Given the description of an element on the screen output the (x, y) to click on. 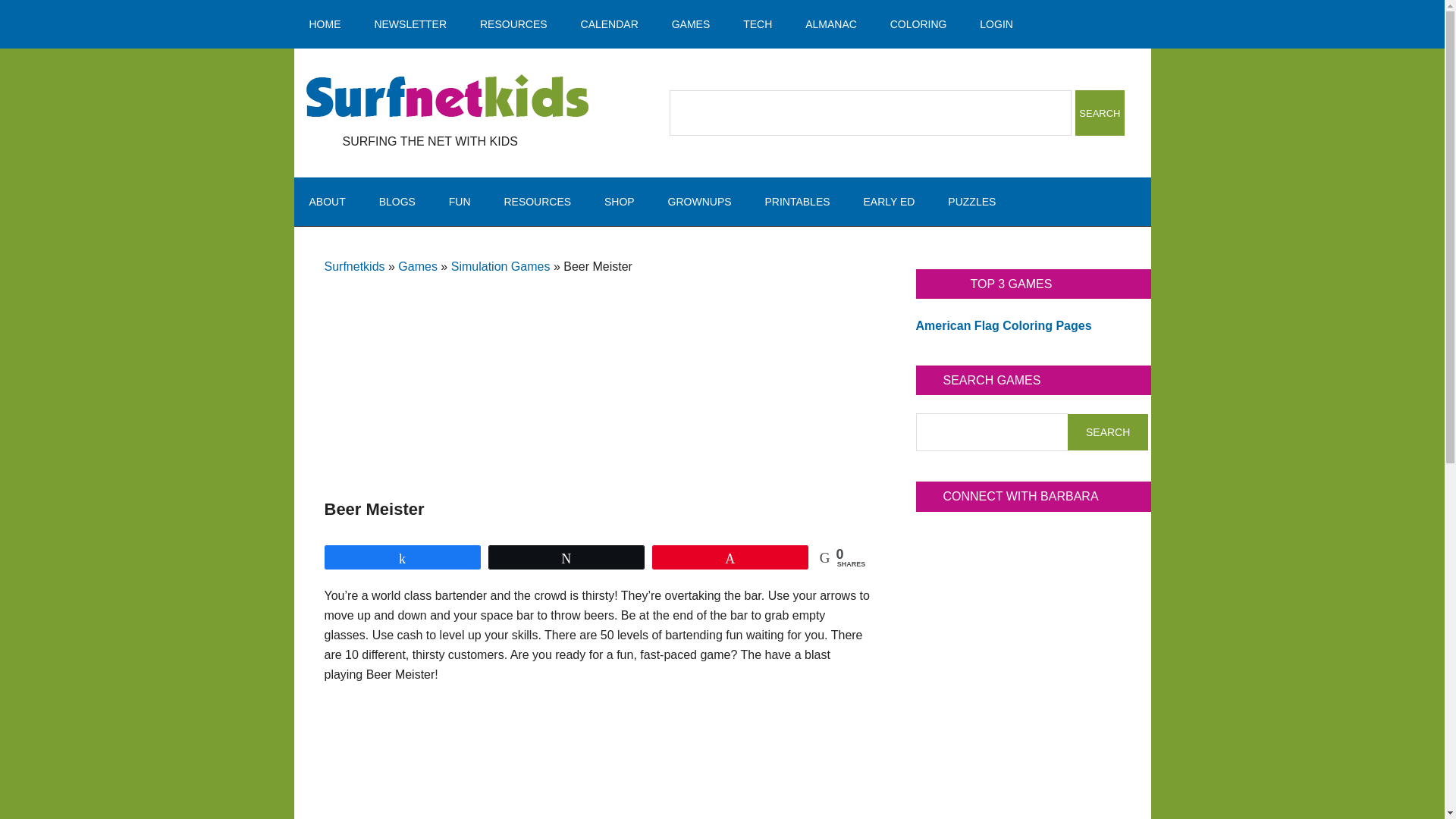
RESOURCES (536, 201)
HOME (325, 24)
GAMES (690, 24)
Surfing the Net with Kids (446, 97)
Search (1099, 112)
CALENDAR (609, 24)
NEWSLETTER (409, 24)
Search (1099, 112)
FUN (459, 201)
Search (1107, 432)
RESOURCES (513, 24)
TECH (757, 24)
SHOP (619, 201)
LOGIN (995, 24)
ABOUT (327, 201)
